Given the description of an element on the screen output the (x, y) to click on. 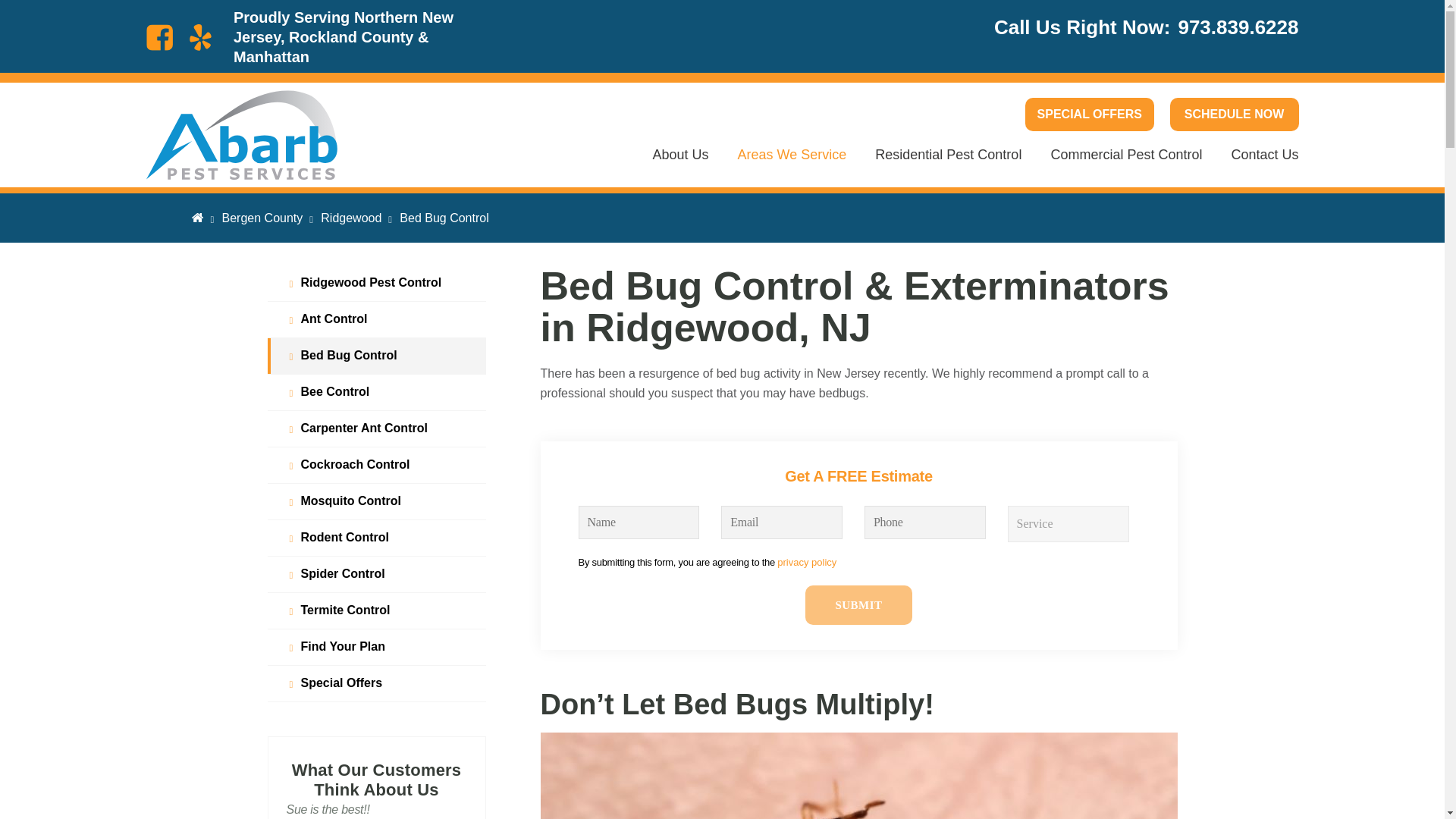
Areas We Service (792, 166)
About Us (680, 166)
973.839.6228 (1234, 26)
SCHEDULE NOW (1233, 114)
SUBMIT (858, 604)
SPECIAL OFFERS (1089, 114)
